Given the description of an element on the screen output the (x, y) to click on. 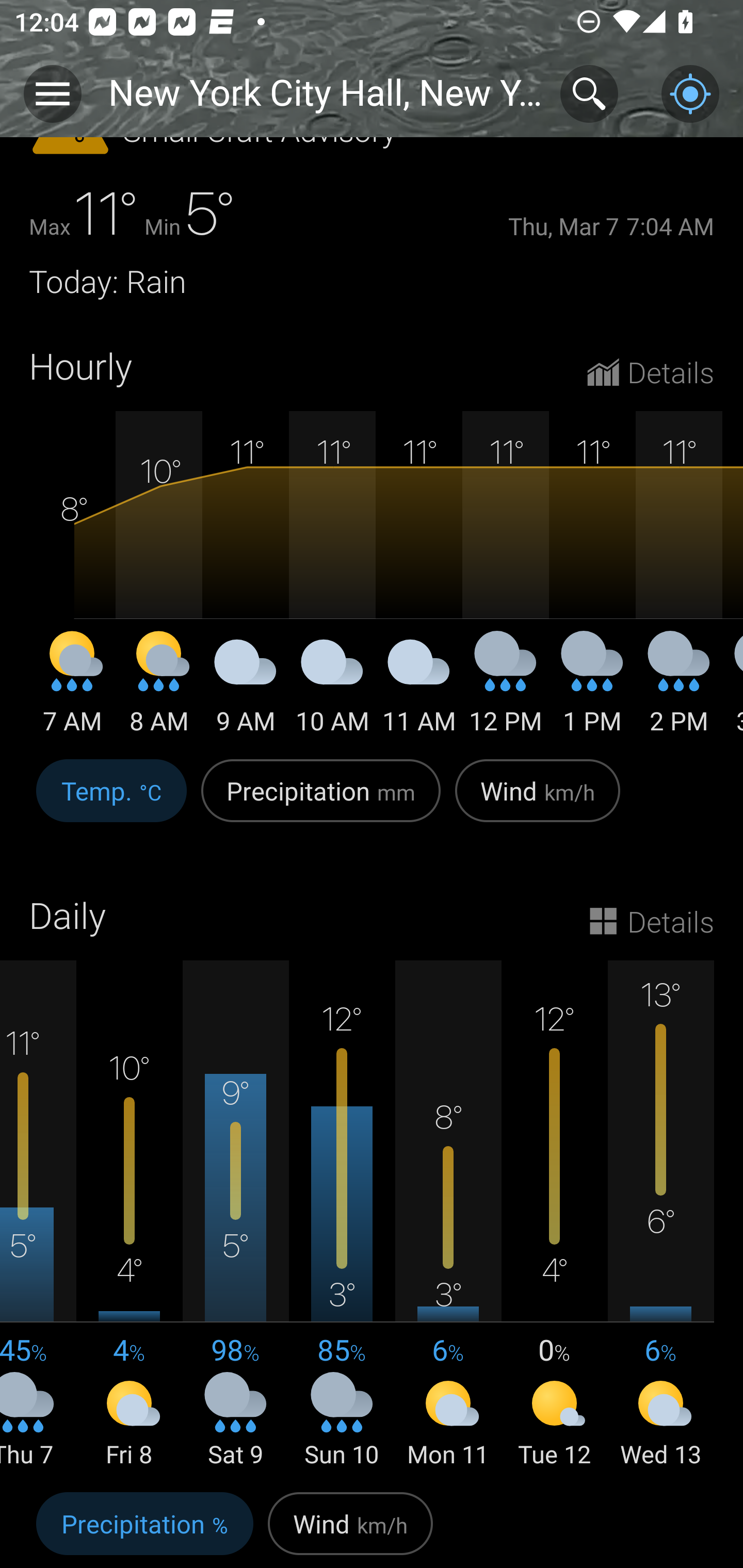
7 AM 8 AM 9 AM 10 AM 11 AM 12 PM 1 PM 2 PM 3 PM (371, 574)
7 AM (71, 689)
8 AM (158, 689)
9 AM (245, 689)
10 AM (332, 689)
11 AM (418, 689)
12 PM (505, 689)
1 PM (592, 689)
2 PM (679, 689)
Temp. °C (110, 801)
Precipitation mm (320, 801)
Wind km/h (537, 801)
11° 5° 45 % Thu 7 (38, 1214)
10° 4° 4 % Fri 8 (129, 1214)
9° 5° 98 % Sat 9 (235, 1214)
12° 3° 85 % Sun 10 (342, 1214)
8° 3° 6 % Mon 11 (448, 1214)
12° 4° 0 % Tue 12 (554, 1214)
13° 6° 6 % Wed 13 (660, 1214)
Precipitation % (144, 1526)
Wind km/h (349, 1526)
